Given the description of an element on the screen output the (x, y) to click on. 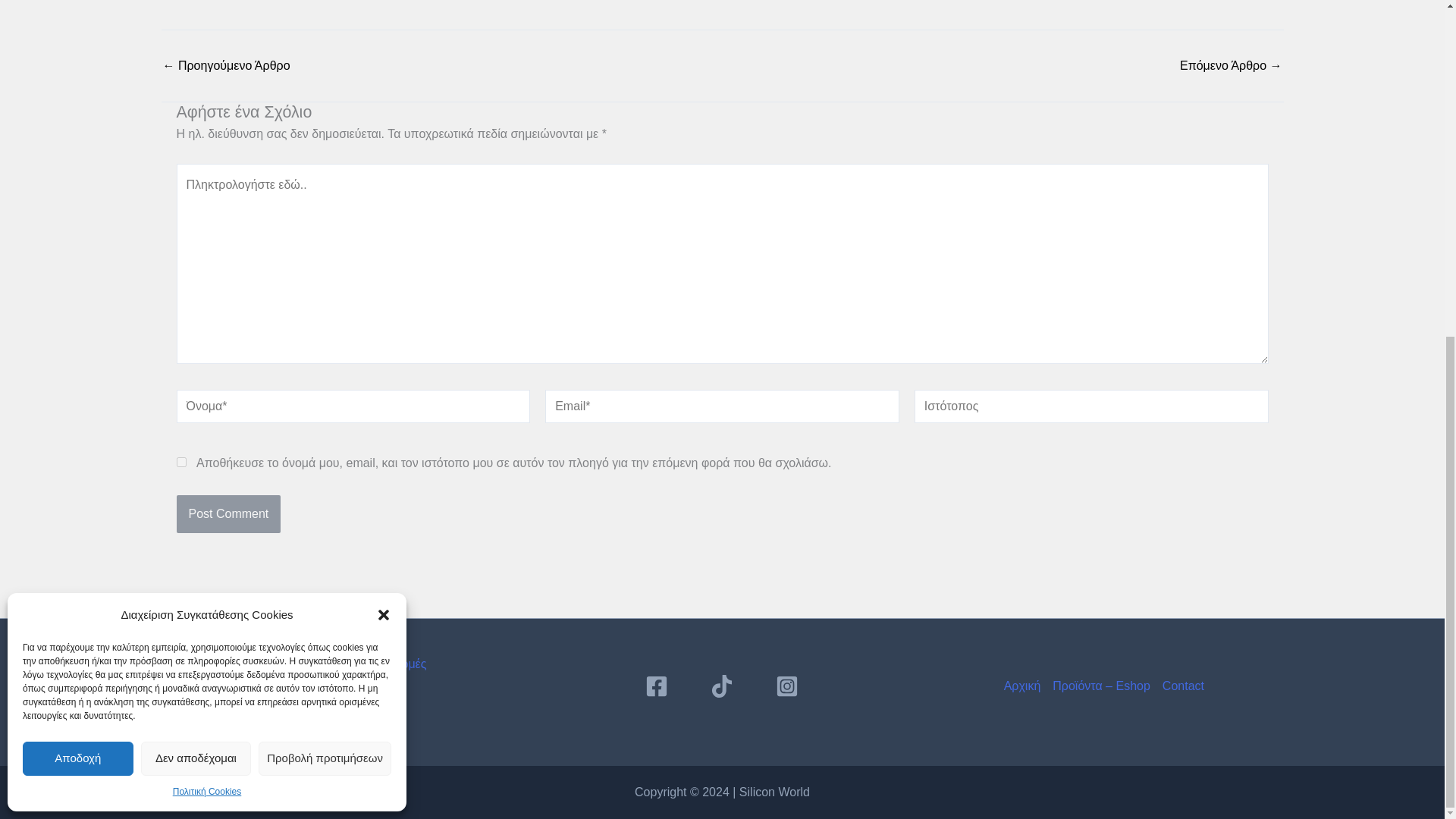
Market Analysis and Insights (1230, 65)
Post Comment (228, 513)
yes (181, 461)
Top five Due Diligence Submission software tool (225, 65)
